Given the description of an element on the screen output the (x, y) to click on. 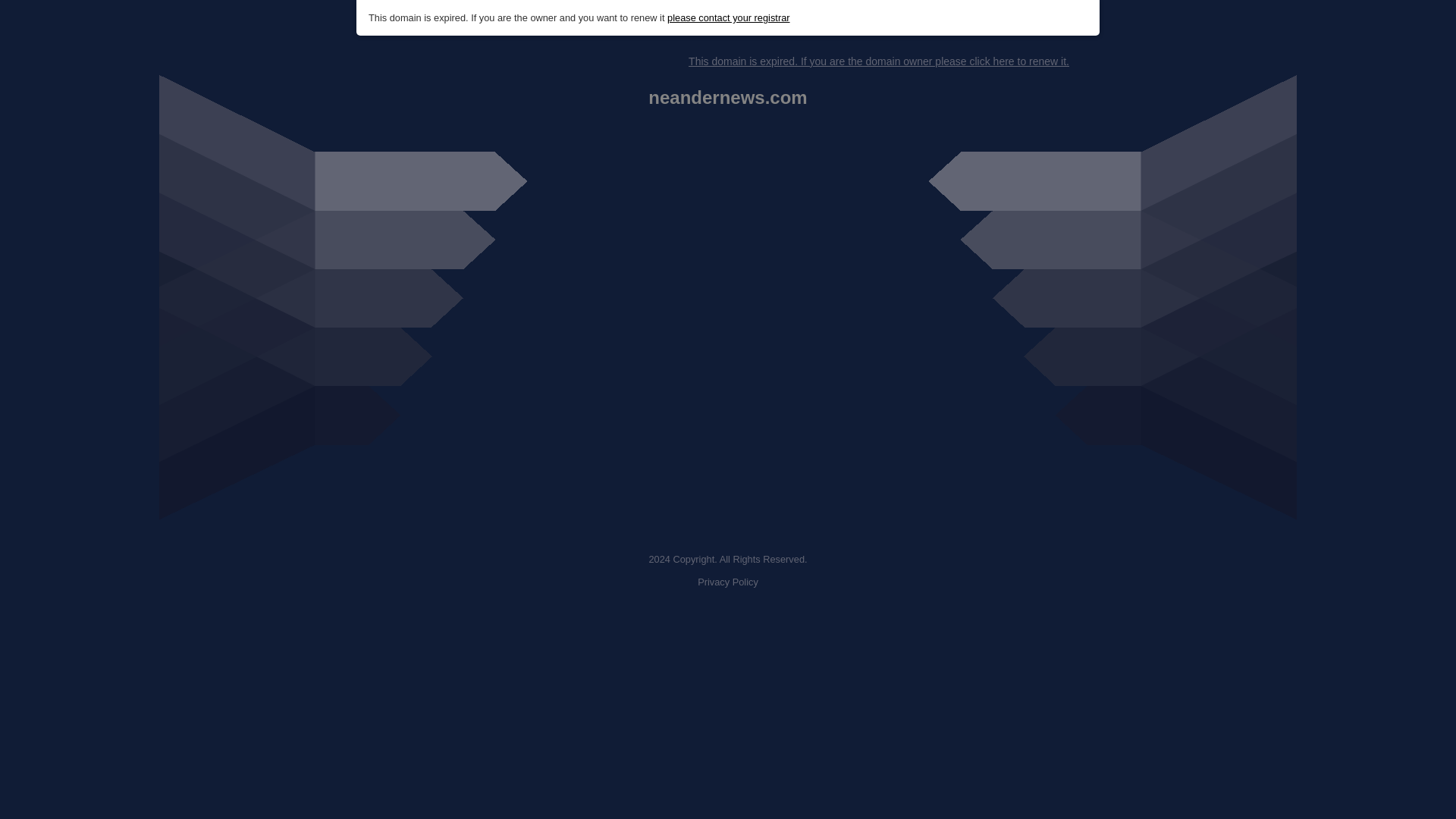
please contact your registrar (727, 17)
Privacy Policy (727, 582)
